Given the description of an element on the screen output the (x, y) to click on. 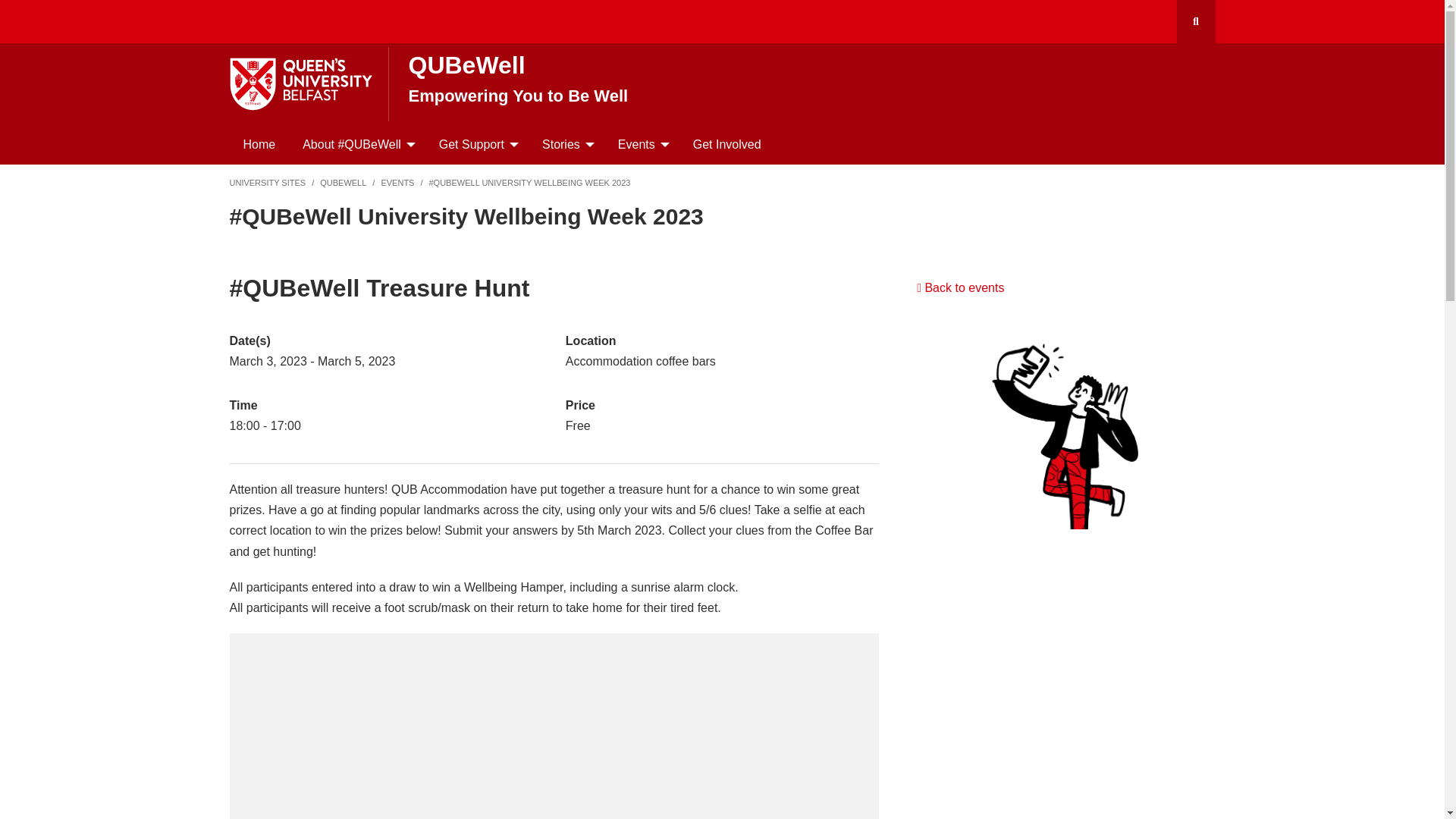
Get Involved (726, 144)
Home (258, 144)
Events (638, 144)
Get Support (473, 144)
Stories (563, 144)
